Given the description of an element on the screen output the (x, y) to click on. 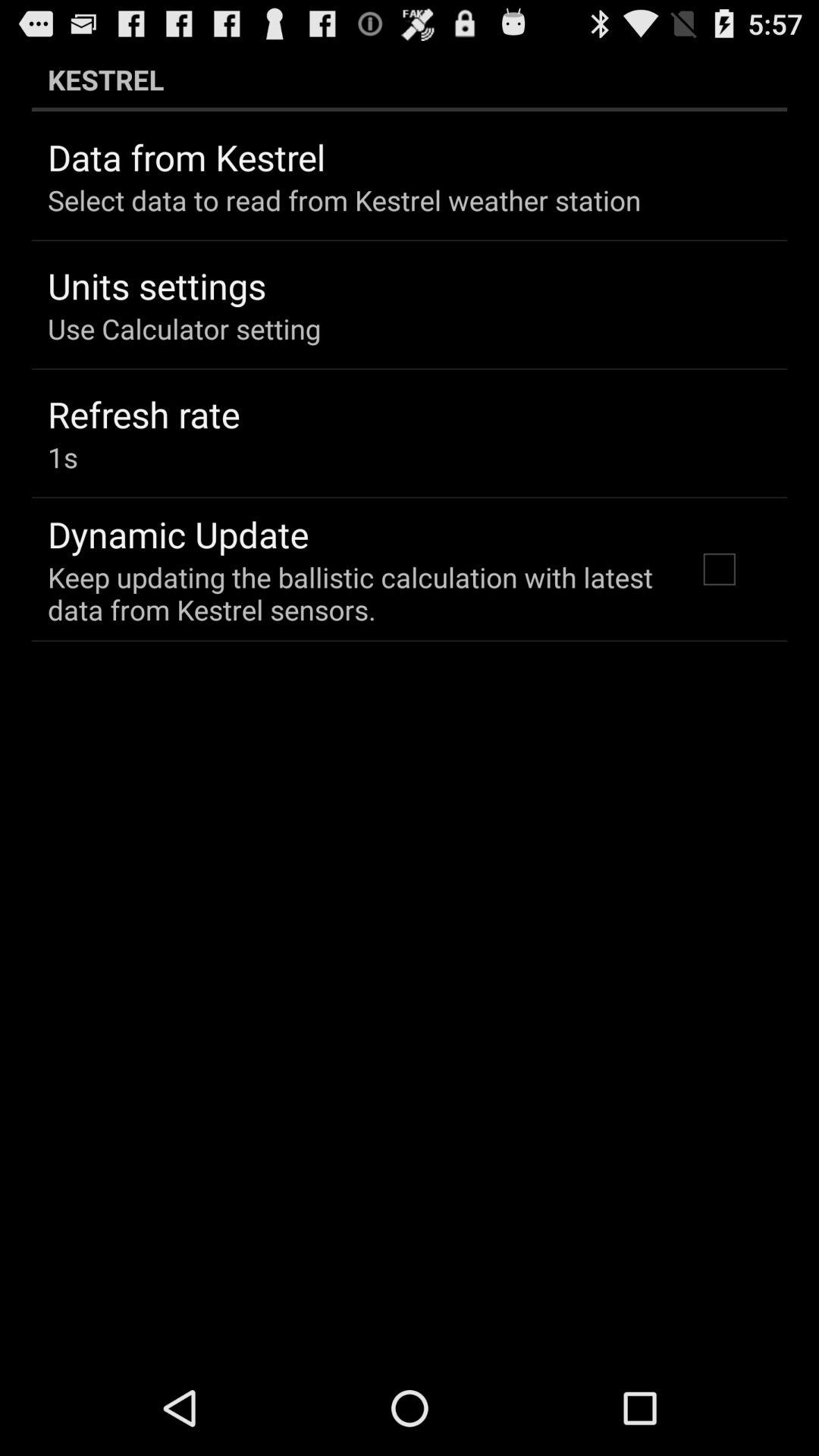
open the units settings app (156, 285)
